Given the description of an element on the screen output the (x, y) to click on. 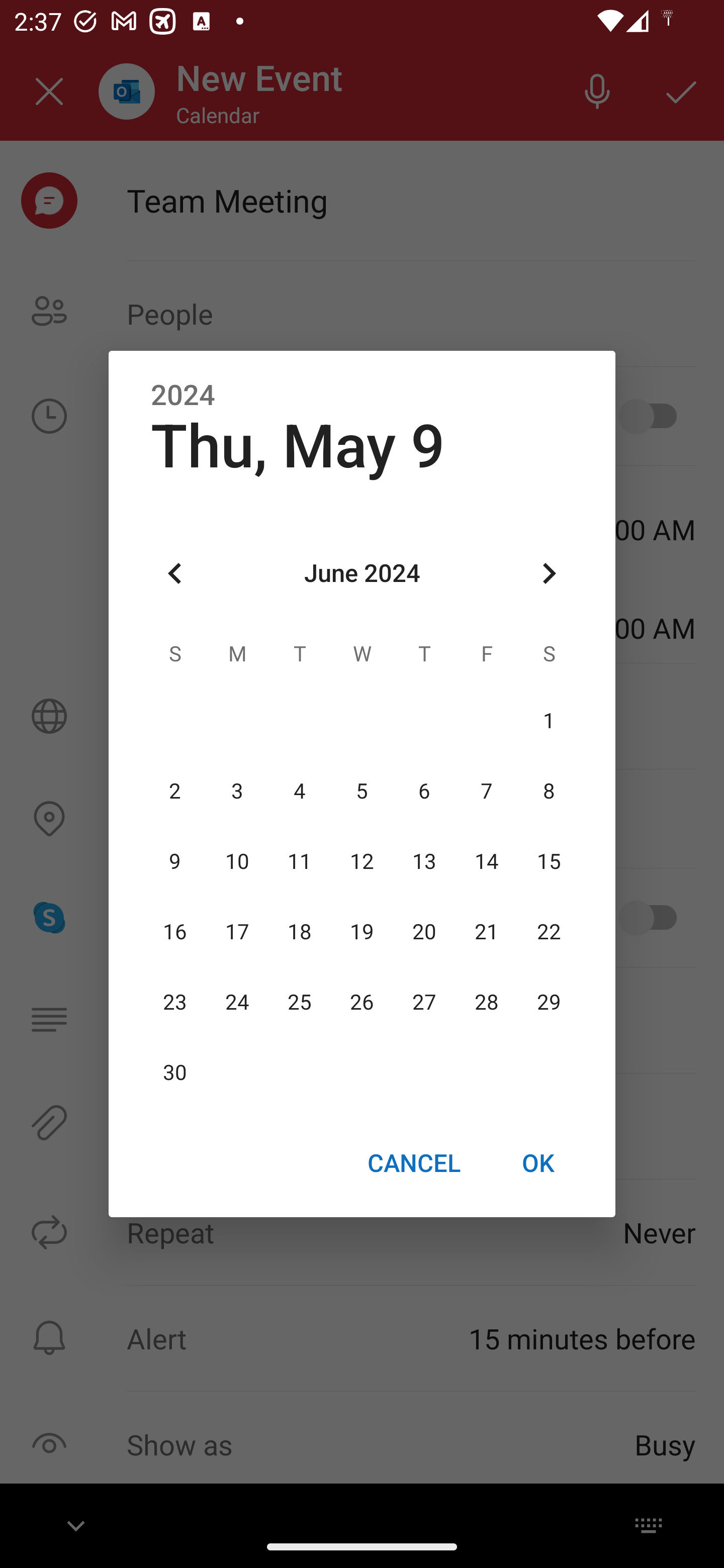
2024 (182, 395)
Thu, May 9 (297, 446)
Previous month (174, 573)
Next month (548, 573)
1 01 June 2024 (548, 720)
2 02 June 2024 (175, 790)
3 03 June 2024 (237, 790)
4 04 June 2024 (299, 790)
5 05 June 2024 (361, 790)
6 06 June 2024 (424, 790)
7 07 June 2024 (486, 790)
8 08 June 2024 (548, 790)
9 09 June 2024 (175, 861)
10 10 June 2024 (237, 861)
11 11 June 2024 (299, 861)
12 12 June 2024 (361, 861)
13 13 June 2024 (424, 861)
14 14 June 2024 (486, 861)
15 15 June 2024 (548, 861)
16 16 June 2024 (175, 931)
17 17 June 2024 (237, 931)
18 18 June 2024 (299, 931)
19 19 June 2024 (361, 931)
20 20 June 2024 (424, 931)
21 21 June 2024 (486, 931)
22 22 June 2024 (548, 931)
23 23 June 2024 (175, 1002)
24 24 June 2024 (237, 1002)
25 25 June 2024 (299, 1002)
26 26 June 2024 (361, 1002)
27 27 June 2024 (424, 1002)
28 28 June 2024 (486, 1002)
29 29 June 2024 (548, 1002)
30 30 June 2024 (175, 1073)
CANCEL (413, 1162)
OK (537, 1162)
